Given the description of an element on the screen output the (x, y) to click on. 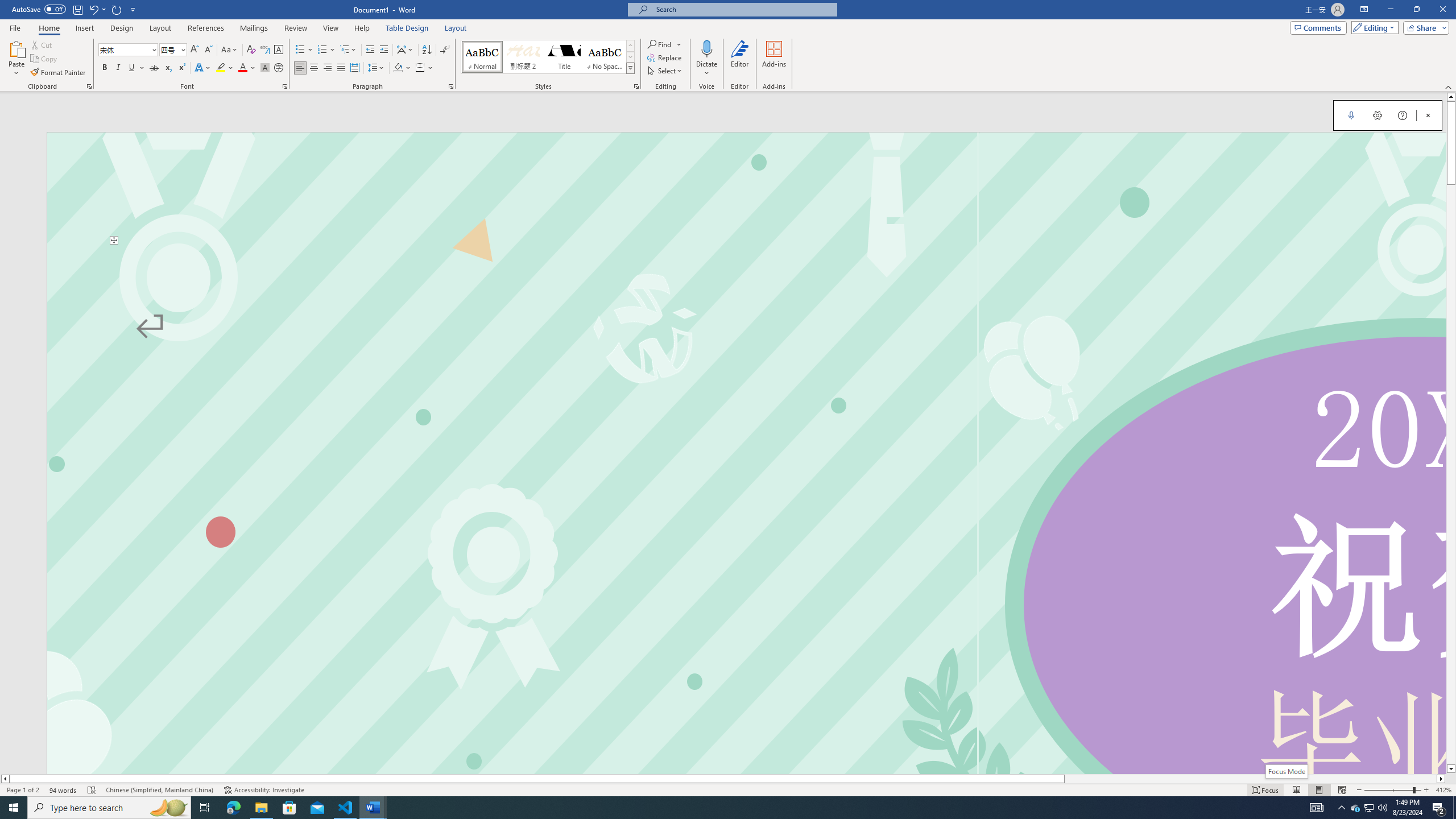
Column left (5, 778)
Repeat Doc Close (117, 9)
